Given the description of an element on the screen output the (x, y) to click on. 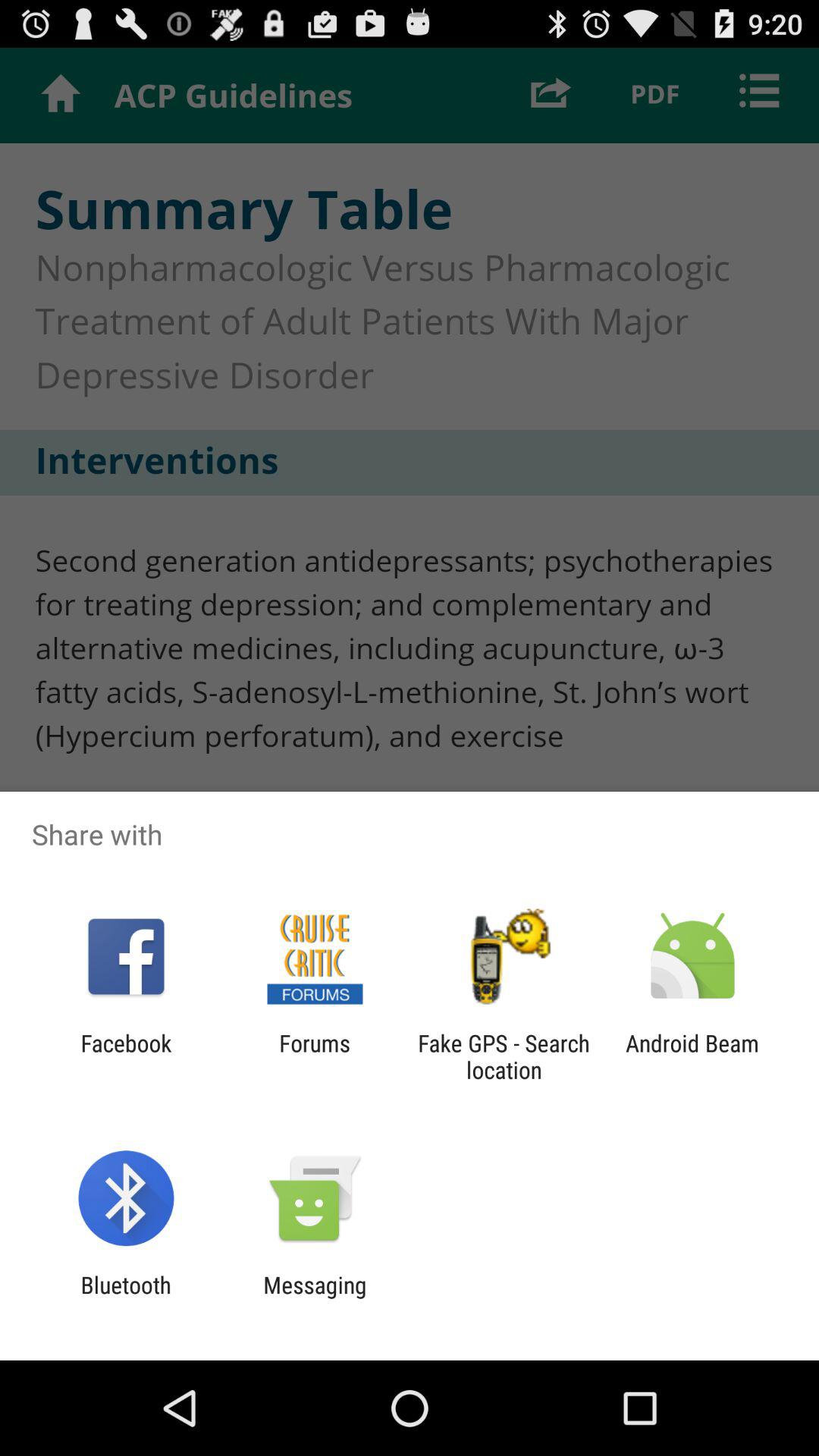
turn off the icon to the left of the forums (125, 1056)
